Given the description of an element on the screen output the (x, y) to click on. 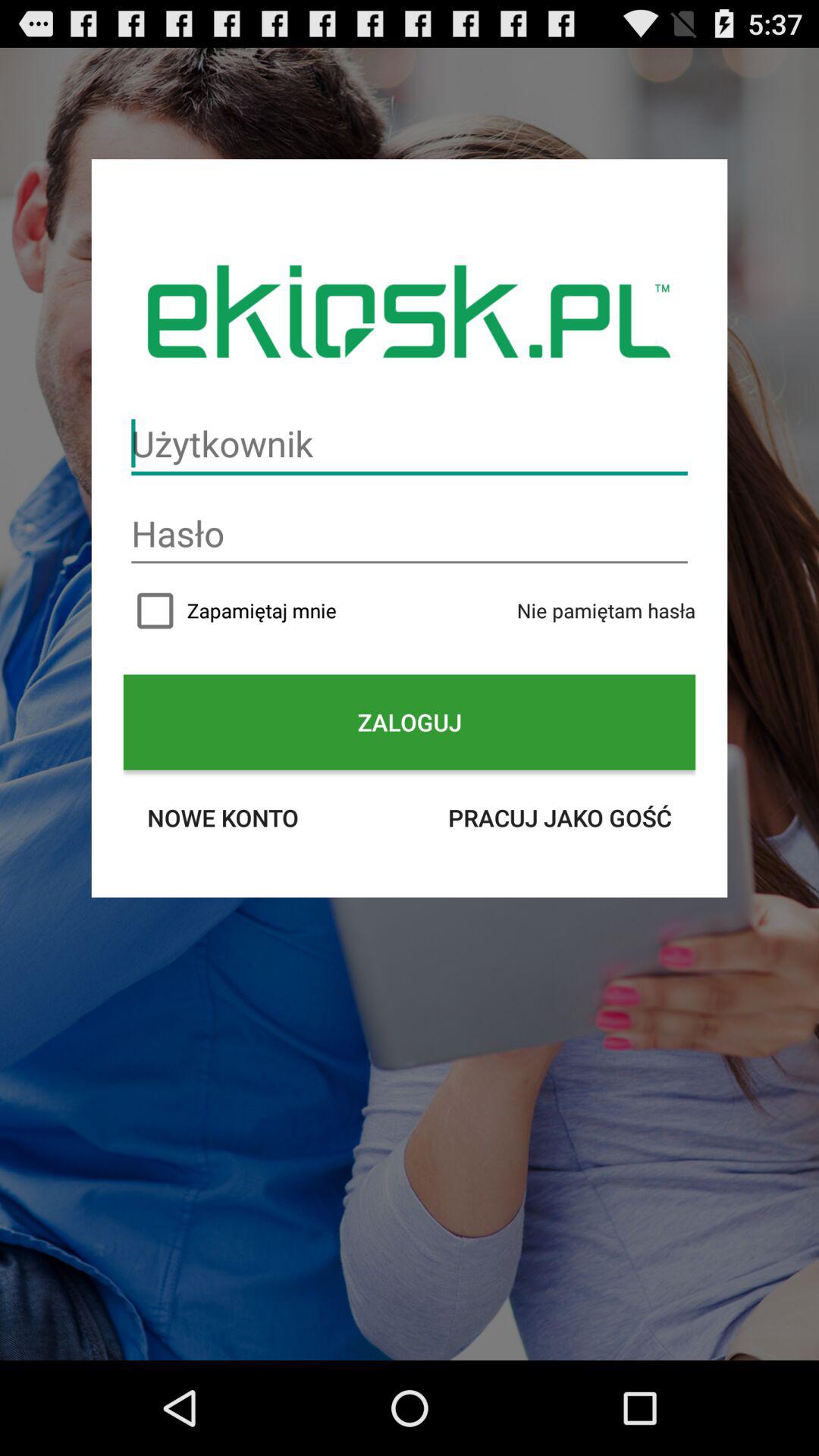
uytkownik (409, 444)
